Given the description of an element on the screen output the (x, y) to click on. 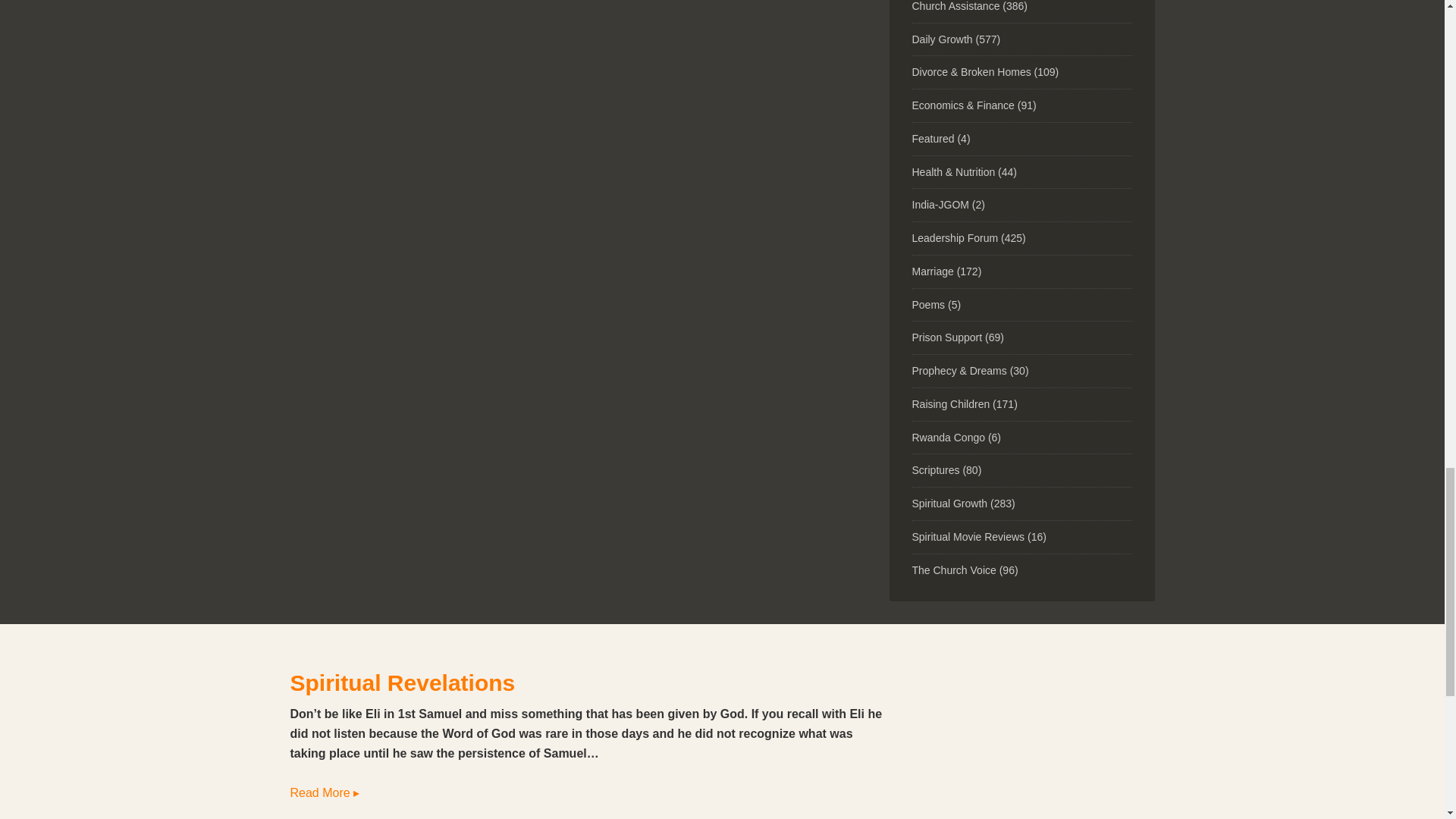
Daily Bible Scriptures (935, 469)
